Given the description of an element on the screen output the (x, y) to click on. 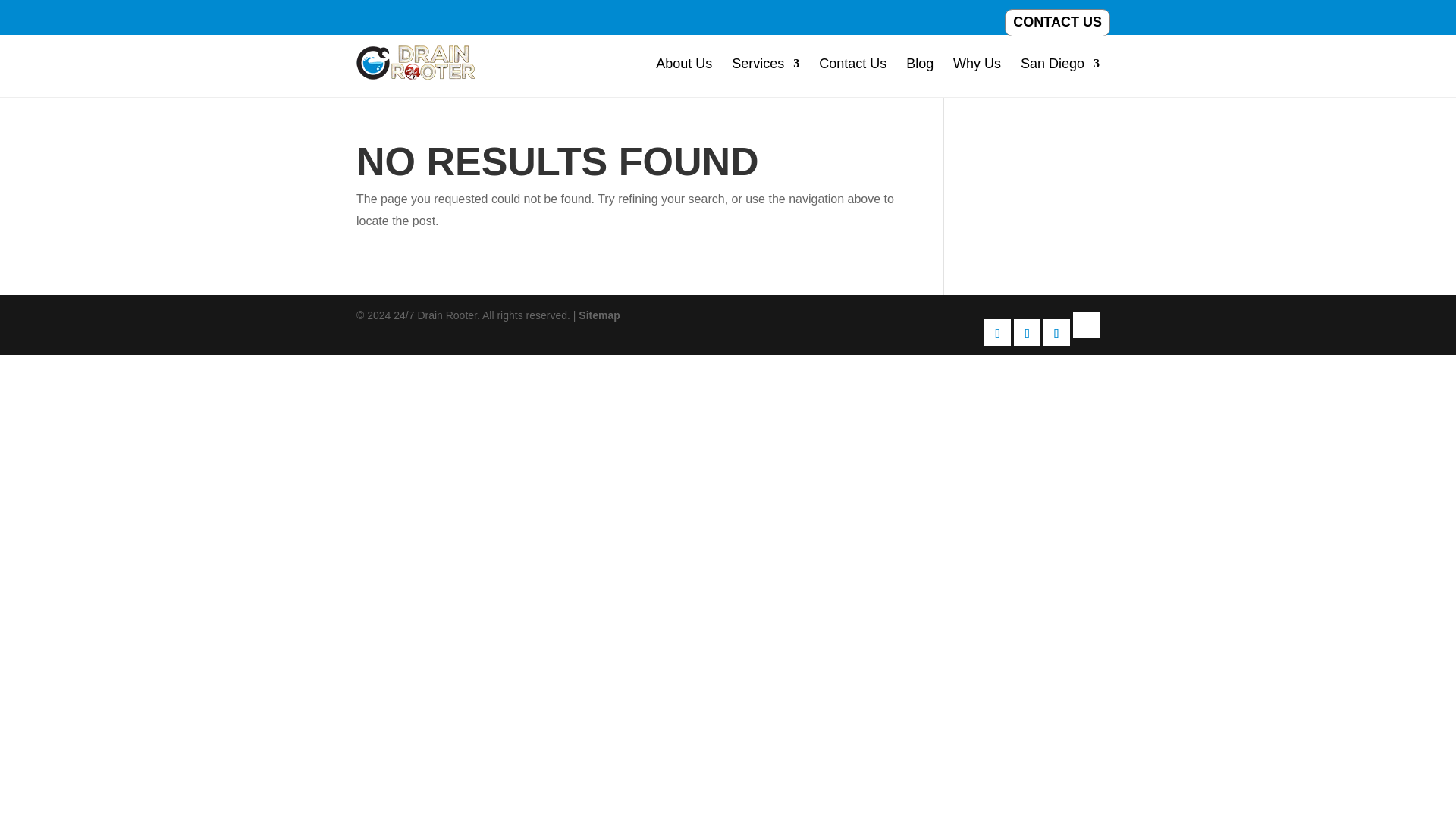
CONTACT US (1056, 22)
San Diego (1059, 63)
Services (765, 63)
Contact Us (852, 63)
Why Us (977, 63)
Blog (919, 63)
Sitemap (599, 315)
About Us (683, 63)
